Given the description of an element on the screen output the (x, y) to click on. 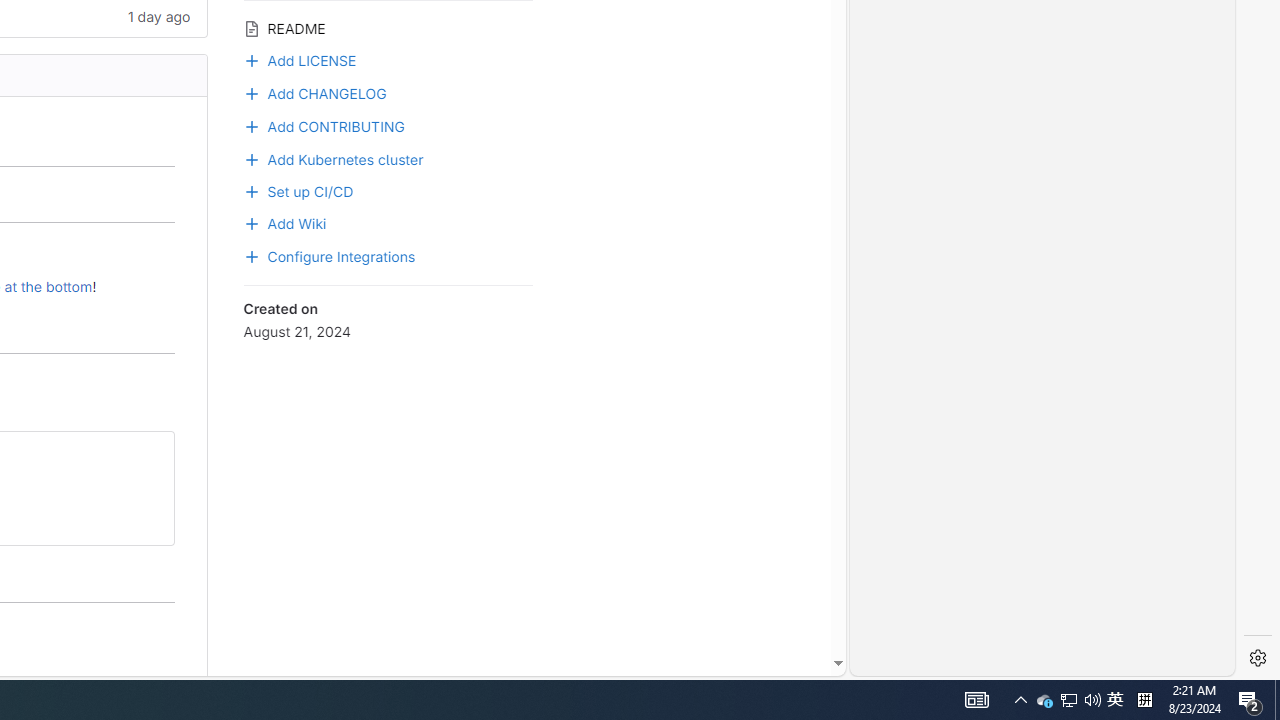
Add CONTRIBUTING (323, 124)
README (387, 26)
Add Kubernetes cluster (387, 158)
Settings (1258, 658)
Class: s16 icon gl-mr-3 gl-text-gray-500 (251, 28)
Add Wiki (284, 222)
Add CHANGELOG (387, 92)
Add Kubernetes cluster (333, 158)
